Given the description of an element on the screen output the (x, y) to click on. 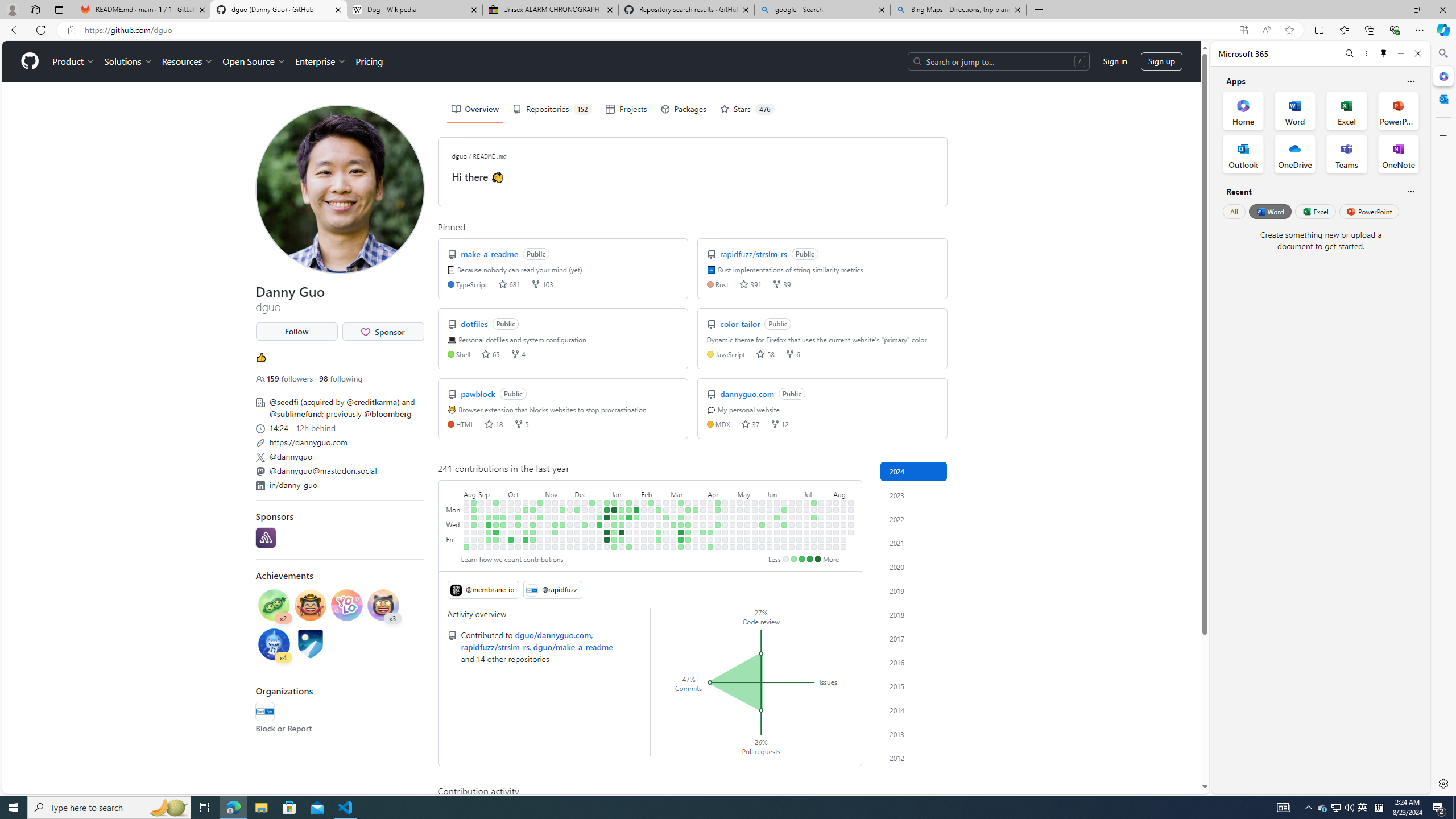
No contributions on June 5th. (770, 524)
No contributions on November 12th. (555, 502)
No contributions on April 20th. (717, 546)
2 contributions on January 13th. (614, 546)
No contributions on October 8th. (518, 502)
January (625, 492)
No contributions on December 16th. (585, 546)
No contributions on June 20th. (784, 531)
1 contribution on June 11th. (777, 517)
No contributions on November 17th. (555, 539)
No contributions on February 12th. (651, 509)
No contributions on November 13th. (555, 509)
No contributions on July 7th. (806, 502)
No contributions on March 17th. (688, 502)
